Given the description of an element on the screen output the (x, y) to click on. 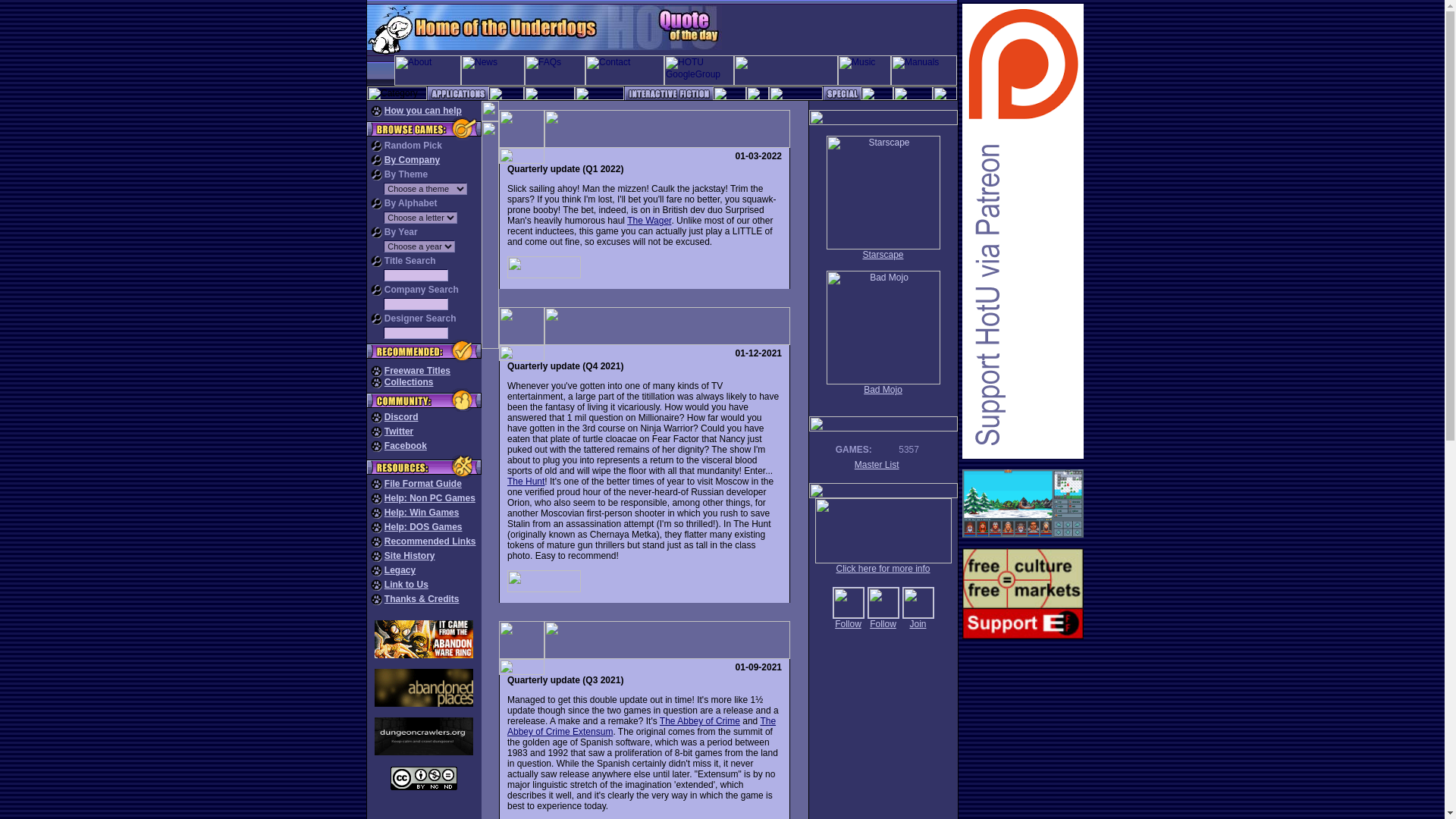
Collections (408, 381)
Twitter (398, 430)
Legacy (399, 570)
Help: DOS Games (423, 526)
Freeware Titles (416, 370)
File Format Guide (422, 483)
Recommended Links (430, 541)
How you can help (422, 110)
Facebook (405, 445)
Site History (409, 555)
By Company (411, 159)
Help: Non PC Games (430, 498)
Random Pick (413, 145)
Help: Win Games (422, 511)
Discord (401, 416)
